Given the description of an element on the screen output the (x, y) to click on. 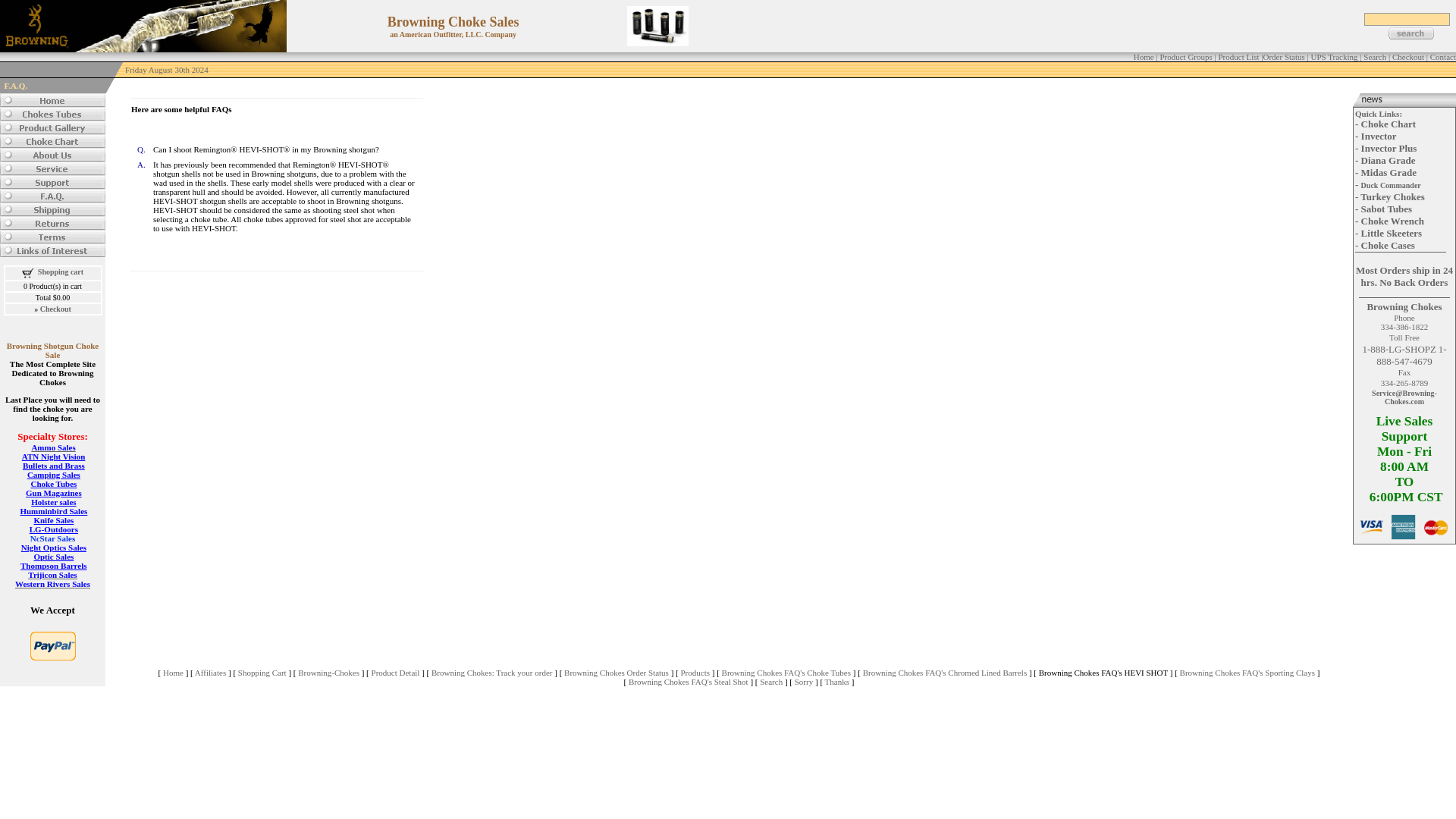
Thompson Barrels (53, 565)
Checkout (55, 308)
Search (1374, 56)
Choke Chart (1388, 123)
Home (1144, 56)
NcStar Sales (52, 537)
Checkout (1407, 56)
Product Groups (1184, 56)
Humminbird Sales (53, 510)
Bullets and Brass (53, 465)
